Given the description of an element on the screen output the (x, y) to click on. 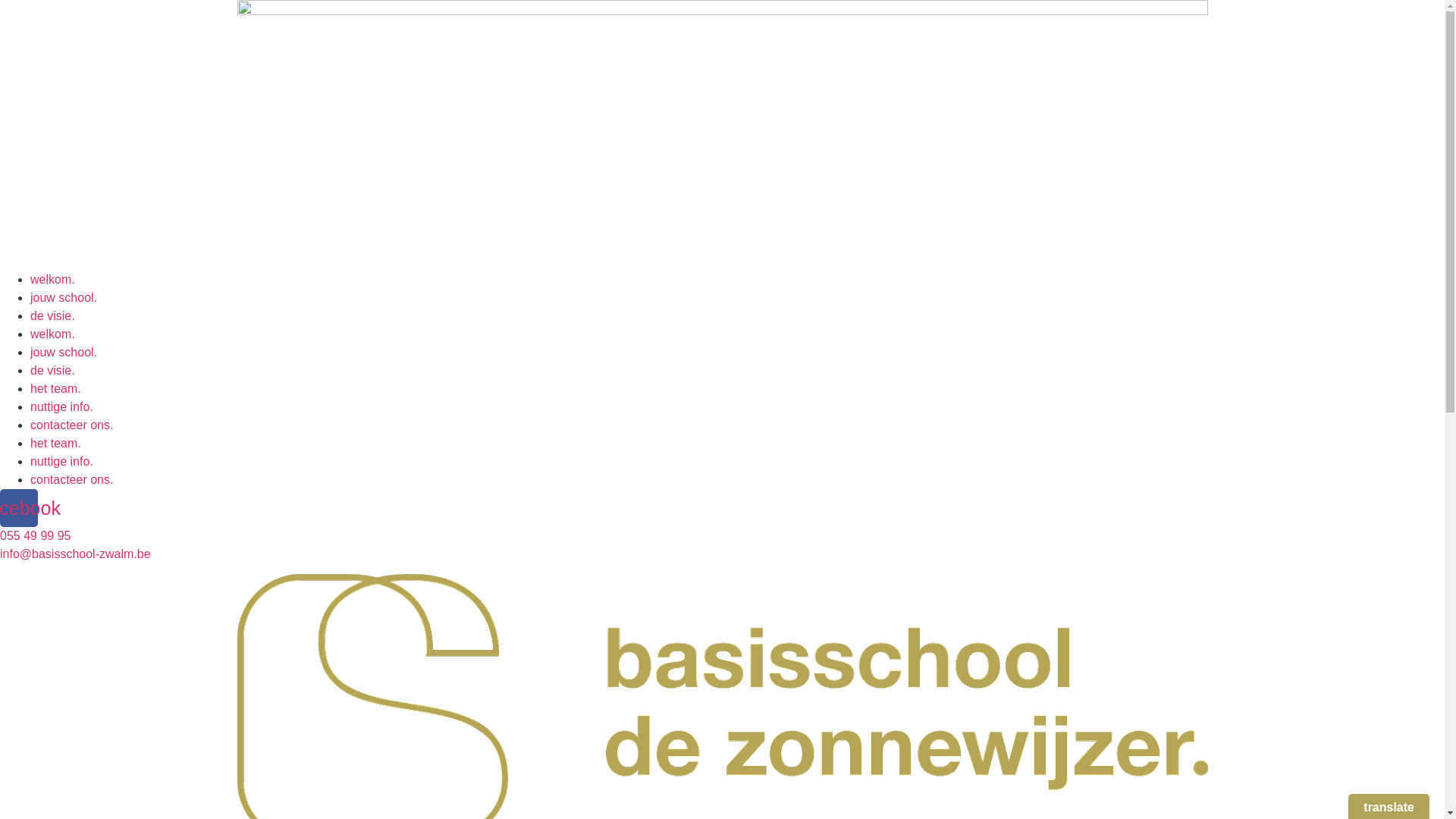
welkom. Element type: text (52, 279)
het team. Element type: text (55, 442)
nuttige info. Element type: text (61, 461)
Facebook Element type: text (18, 508)
contacteer ons. Element type: text (71, 479)
de visie. Element type: text (52, 315)
de visie. Element type: text (52, 370)
jouw school. Element type: text (63, 351)
nuttige info. Element type: text (61, 406)
welkom. Element type: text (52, 333)
info@basisschool-zwalm.be Element type: text (75, 553)
055 49 99 95 Element type: text (35, 535)
jouw school. Element type: text (63, 297)
het team. Element type: text (55, 388)
contacteer ons. Element type: text (71, 424)
